Given the description of an element on the screen output the (x, y) to click on. 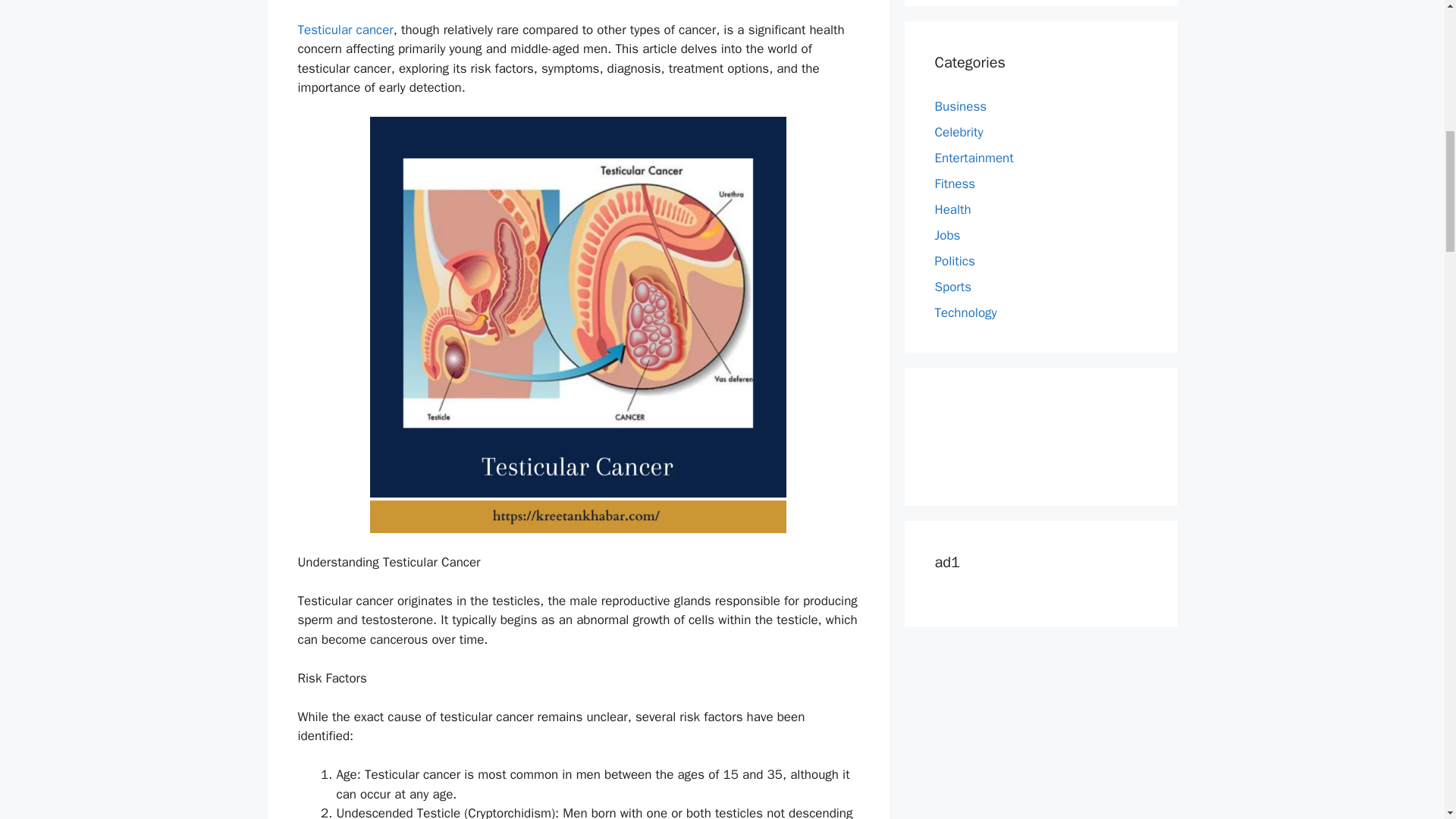
Politics (954, 261)
Sports (952, 286)
Testicular cancer (345, 29)
Celebrity (958, 132)
Jobs (946, 235)
Health (952, 209)
Entertainment (973, 157)
Technology (964, 312)
Fitness (954, 183)
Business (960, 106)
